Given the description of an element on the screen output the (x, y) to click on. 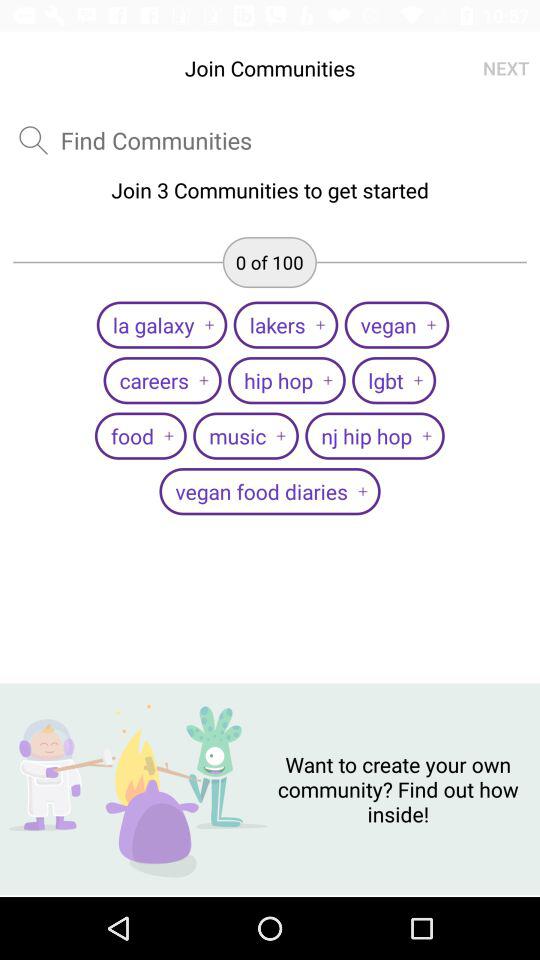
press icon to the right of the join communities (506, 67)
